Given the description of an element on the screen output the (x, y) to click on. 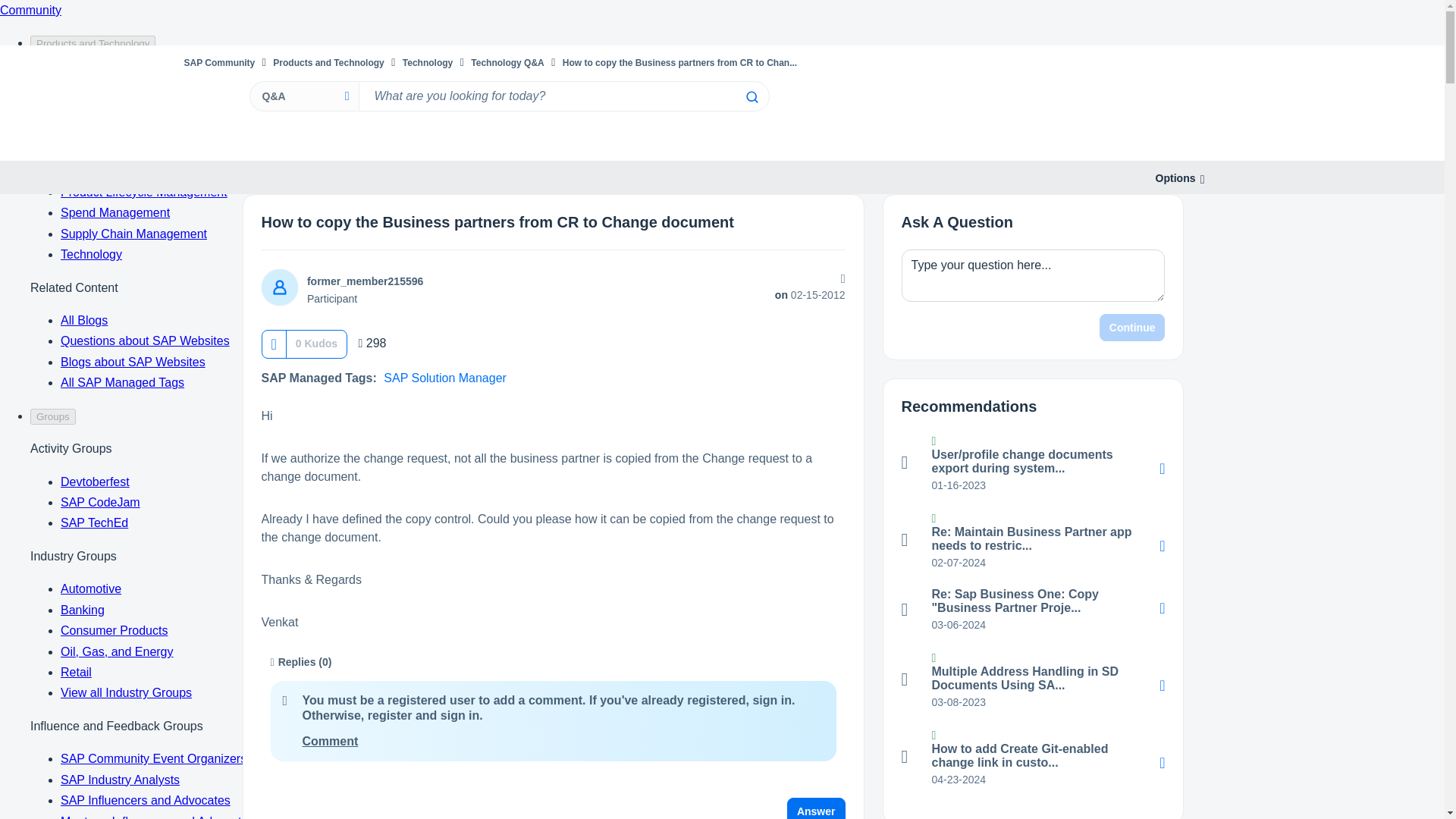
Technology (427, 62)
Search (563, 96)
Comment (329, 740)
SAP Solution Manager (445, 377)
Search Granularity (303, 96)
SAP Community (218, 62)
Answer (816, 808)
Search (750, 96)
Search (750, 96)
Continue (1132, 327)
